Given the description of an element on the screen output the (x, y) to click on. 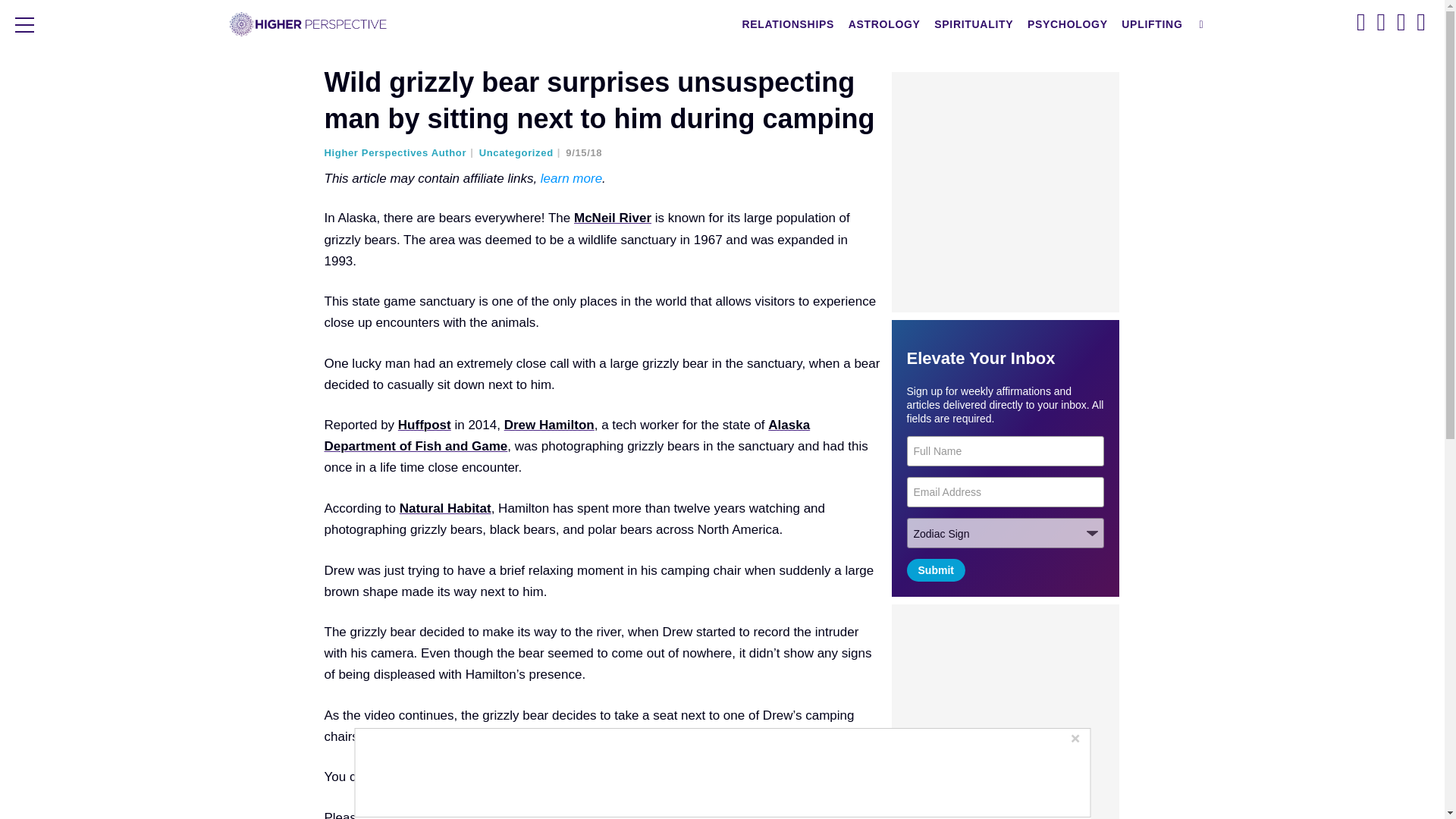
UPLIFTING (1152, 24)
RELATIONSHIPS (788, 24)
Huffpost (424, 424)
McNeil River (611, 217)
SPIRITUALITY (972, 24)
Drew Hamilton (548, 424)
Uncategorized (520, 152)
Natural Habitat (445, 508)
Facebook (550, 814)
learn more (571, 178)
